Given the description of an element on the screen output the (x, y) to click on. 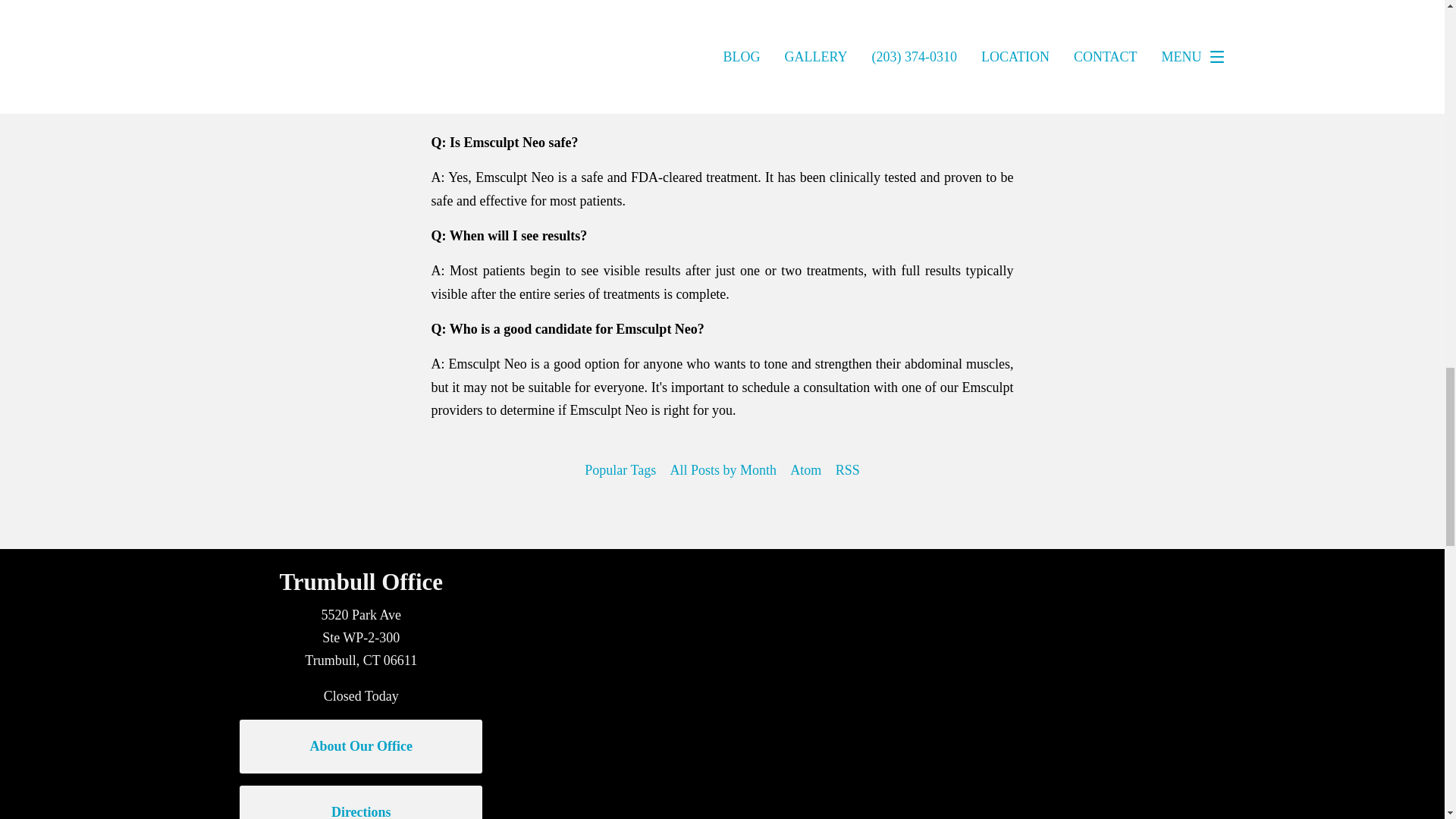
Atom (805, 470)
All Posts by Month (722, 470)
Trumbull Office (360, 581)
RSS (847, 470)
Directions (360, 802)
Locations (951, 560)
Popular Tags (620, 470)
About Our Office (360, 746)
